Given the description of an element on the screen output the (x, y) to click on. 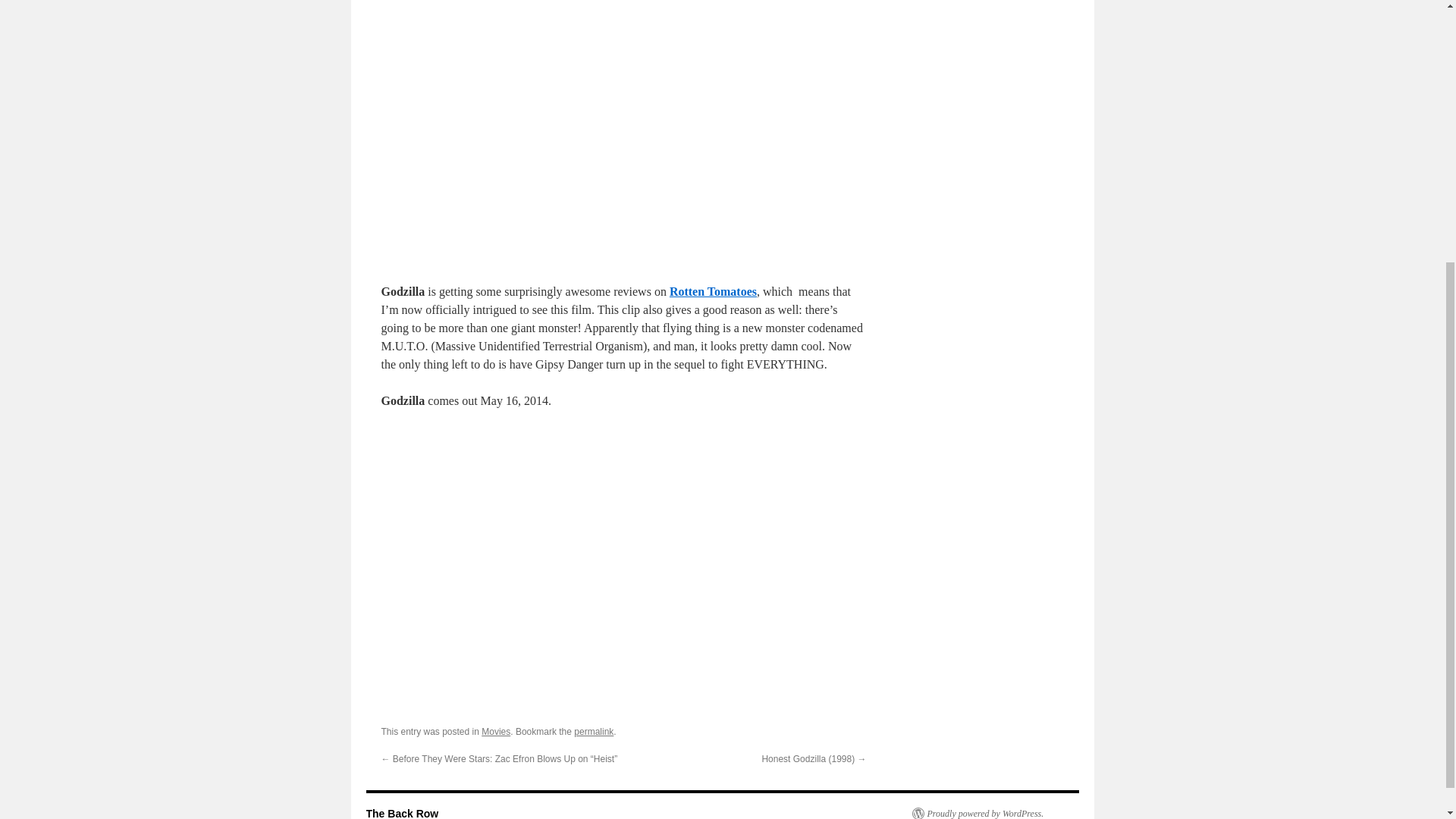
Permalink to Let them fight. (592, 731)
permalink (592, 731)
Rotten Tomatoes (713, 291)
Movies (496, 731)
